Given the description of an element on the screen output the (x, y) to click on. 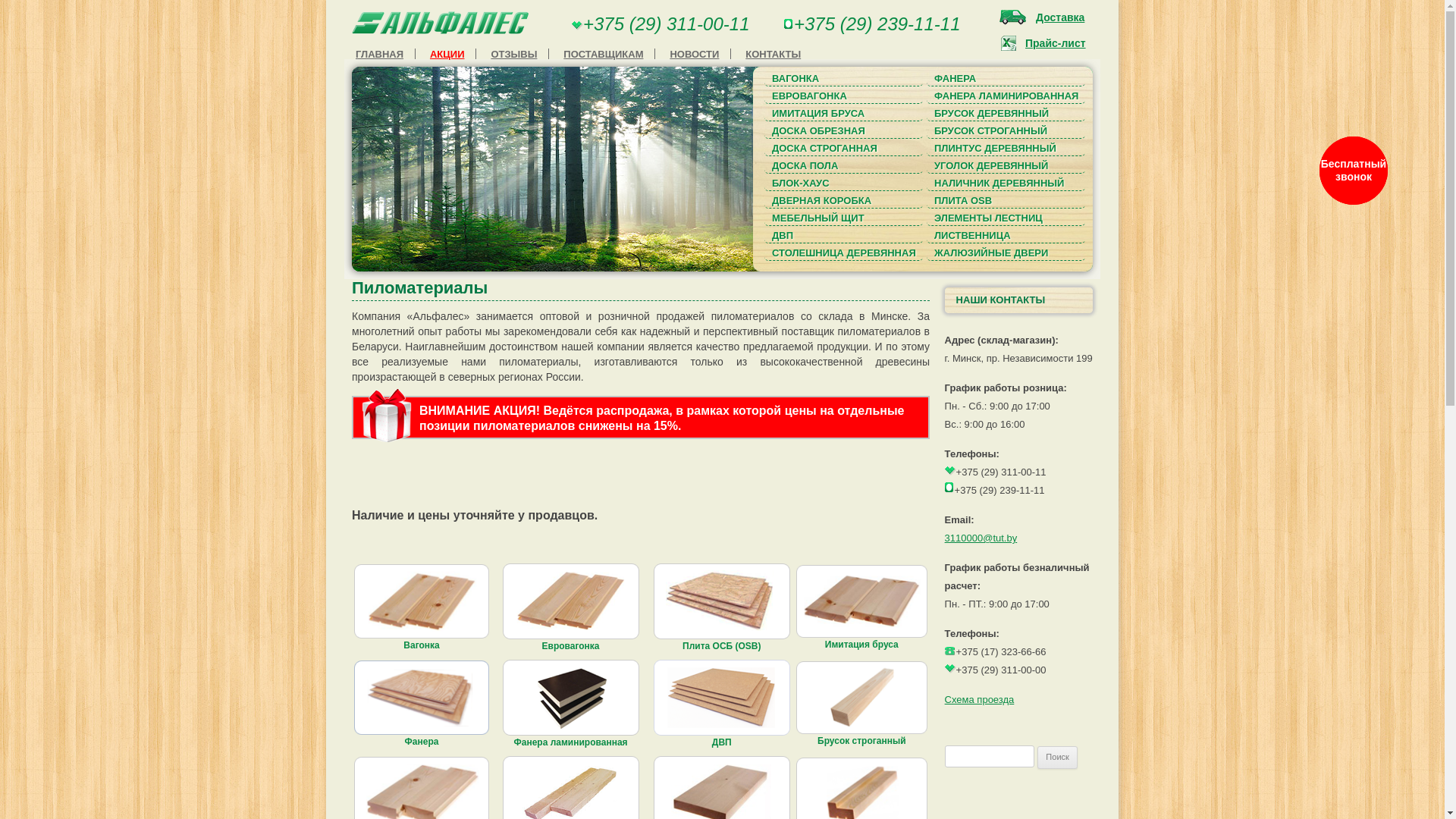
+375 (29) 311-00-11 Element type: text (666, 23)
3110000@tut.by Element type: text (980, 537)
+375 (29) 239-11-11 Element type: text (876, 23)
